Given the description of an element on the screen output the (x, y) to click on. 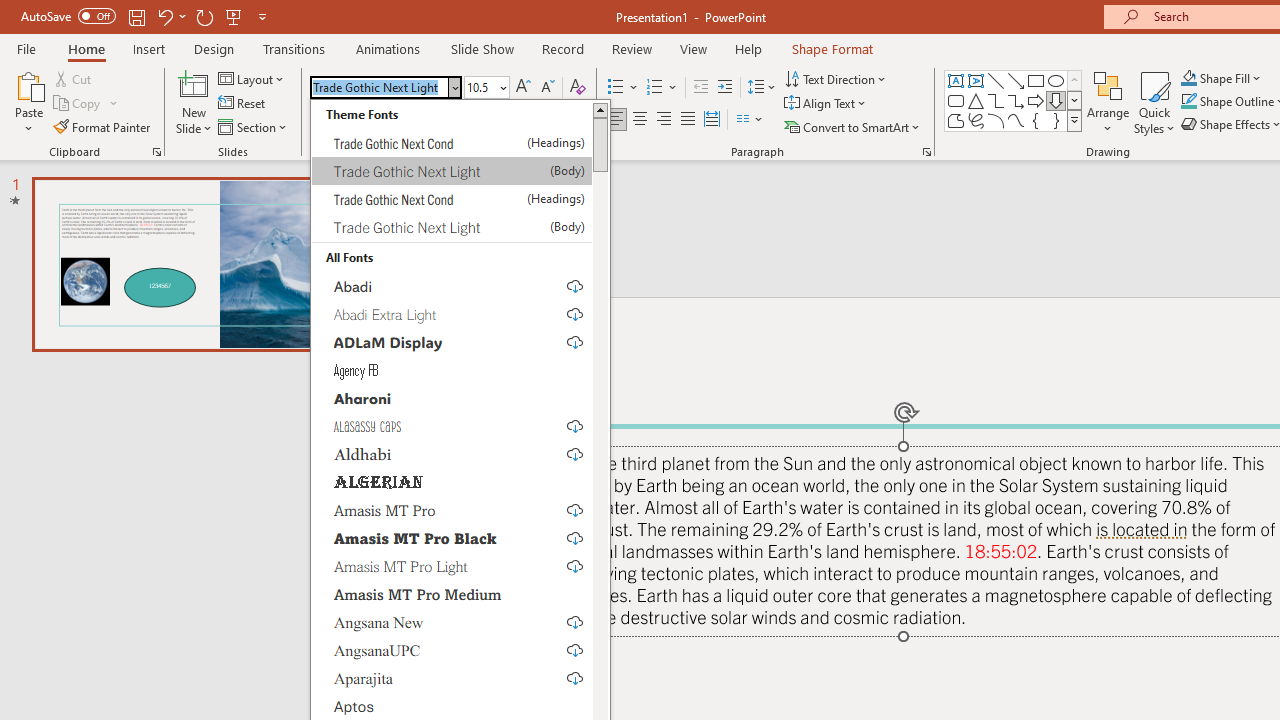
Amasis MT Pro Black, select to download (451, 538)
Shadow (392, 119)
Class: NetUIImage (1075, 120)
Line Spacing (762, 87)
Row up (1074, 79)
View (693, 48)
Increase Indent (725, 87)
Bullets (616, 87)
Shape Fill (1221, 78)
Shape Fill Aqua, Accent 2 (1188, 78)
Font Size (486, 87)
Cut (73, 78)
